Given the description of an element on the screen output the (x, y) to click on. 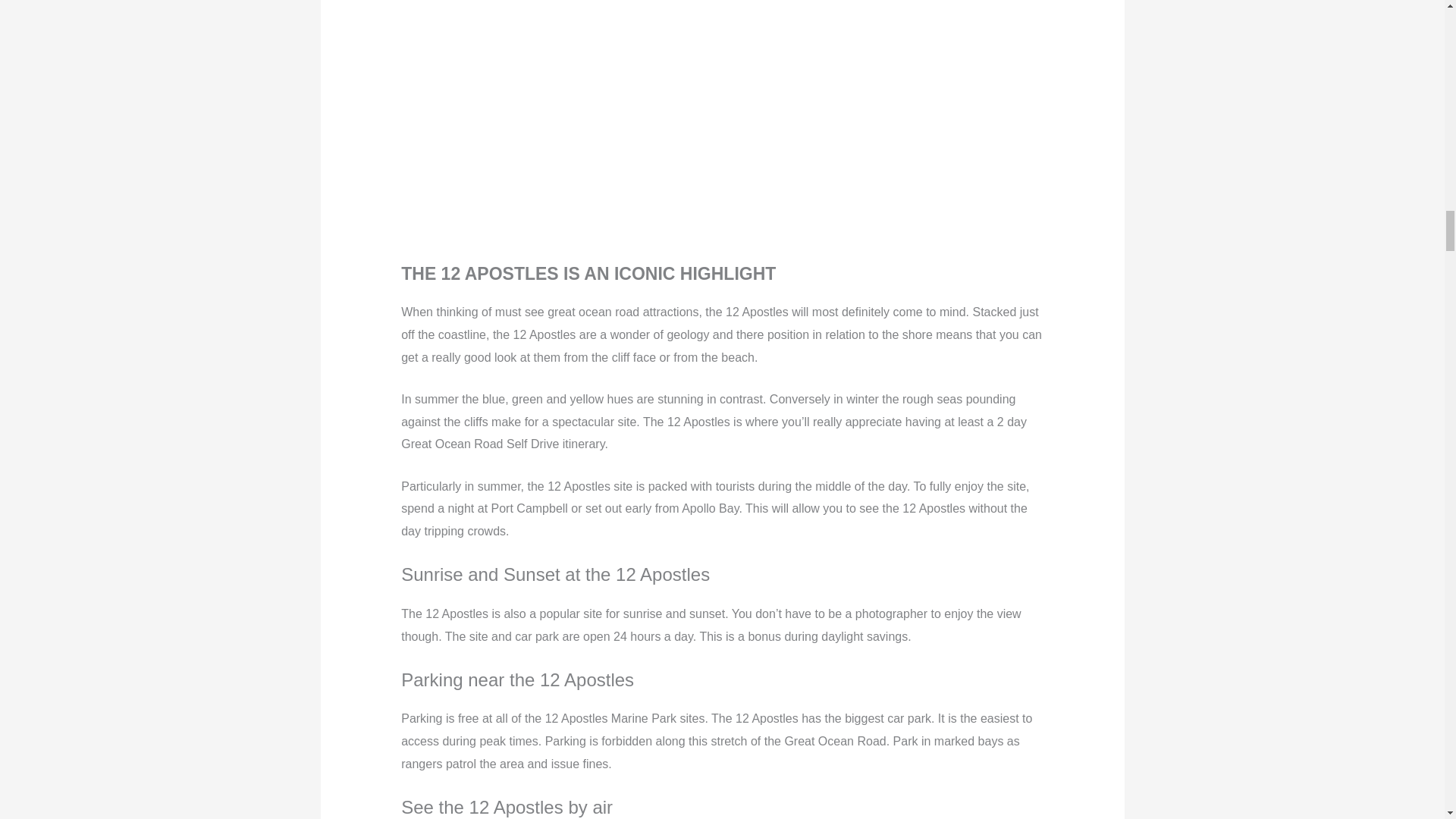
The Best Great Ocean Road Itinerary 5 (683, 72)
